Given the description of an element on the screen output the (x, y) to click on. 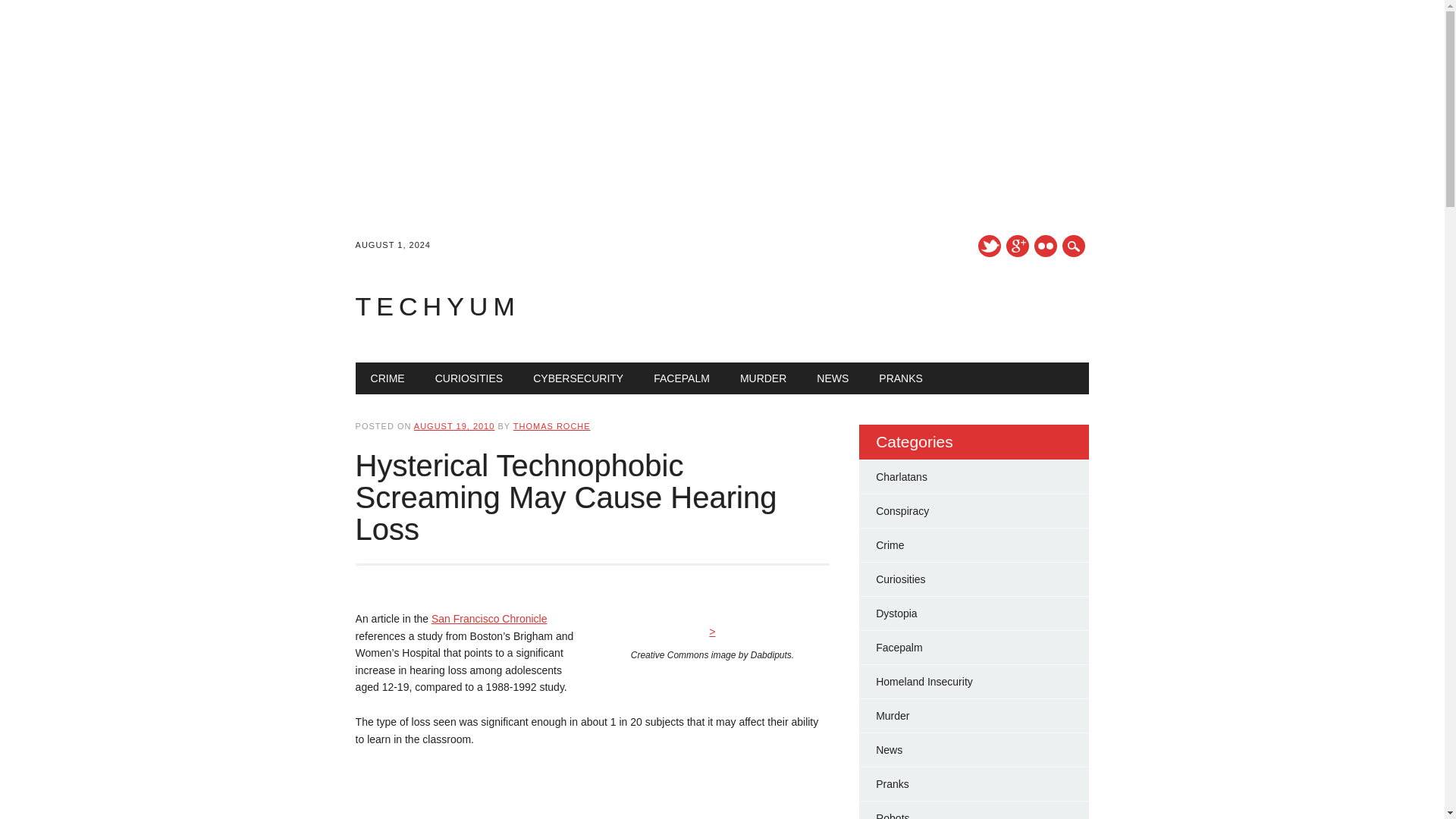
CYBERSECURITY (578, 377)
Advertisement (592, 792)
Instagram (1045, 246)
PRANKS (900, 377)
Facepalm (898, 647)
7:32 pm (454, 425)
FACEPALM (682, 377)
TECHYUM (437, 306)
Skip to content (390, 370)
